Given the description of an element on the screen output the (x, y) to click on. 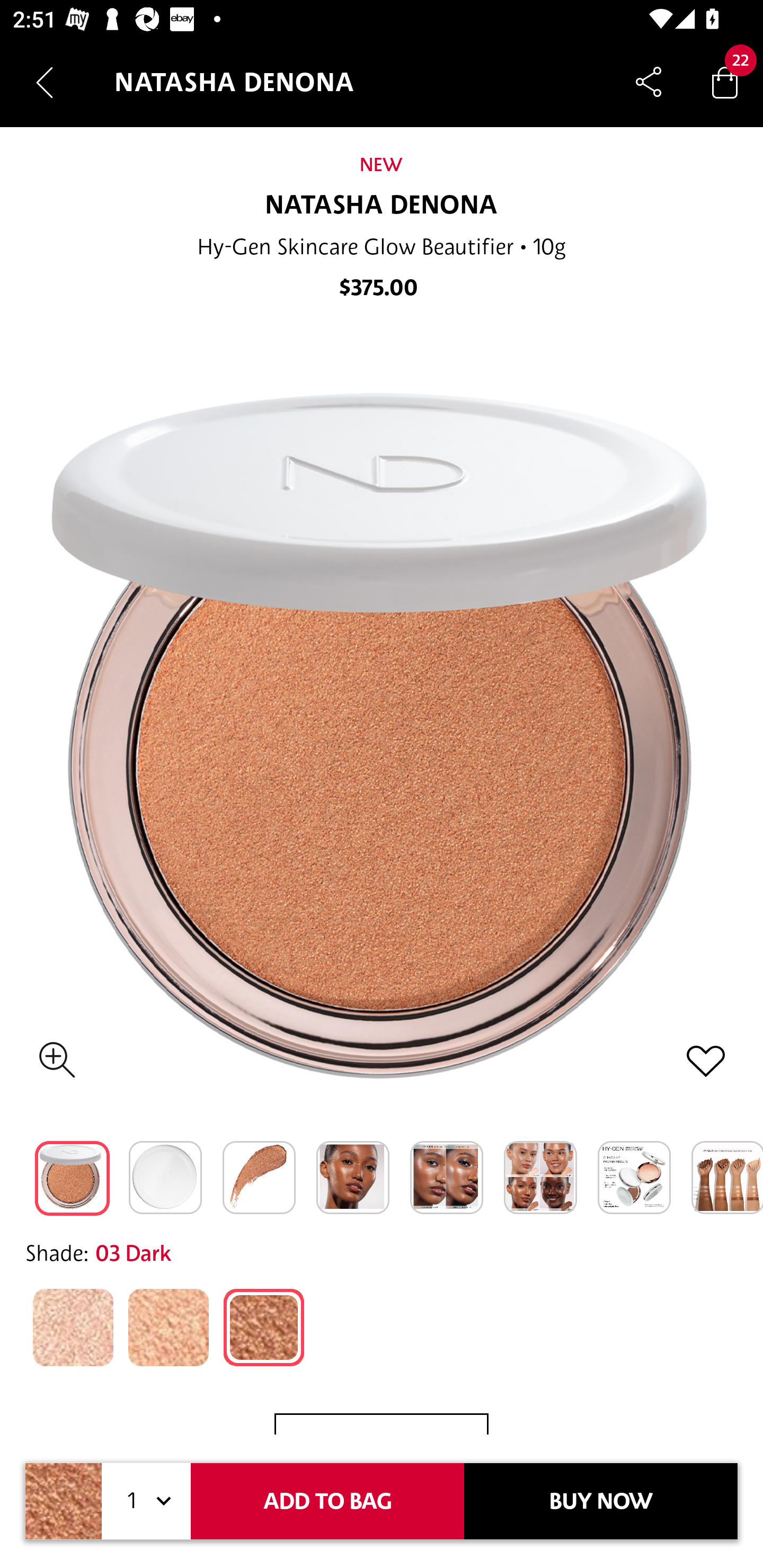
Navigate up (44, 82)
Share (648, 81)
Bag (724, 81)
NATASHA DENONA (381, 205)
1 (145, 1500)
ADD TO BAG (326, 1500)
BUY NOW (600, 1500)
